Given the description of an element on the screen output the (x, y) to click on. 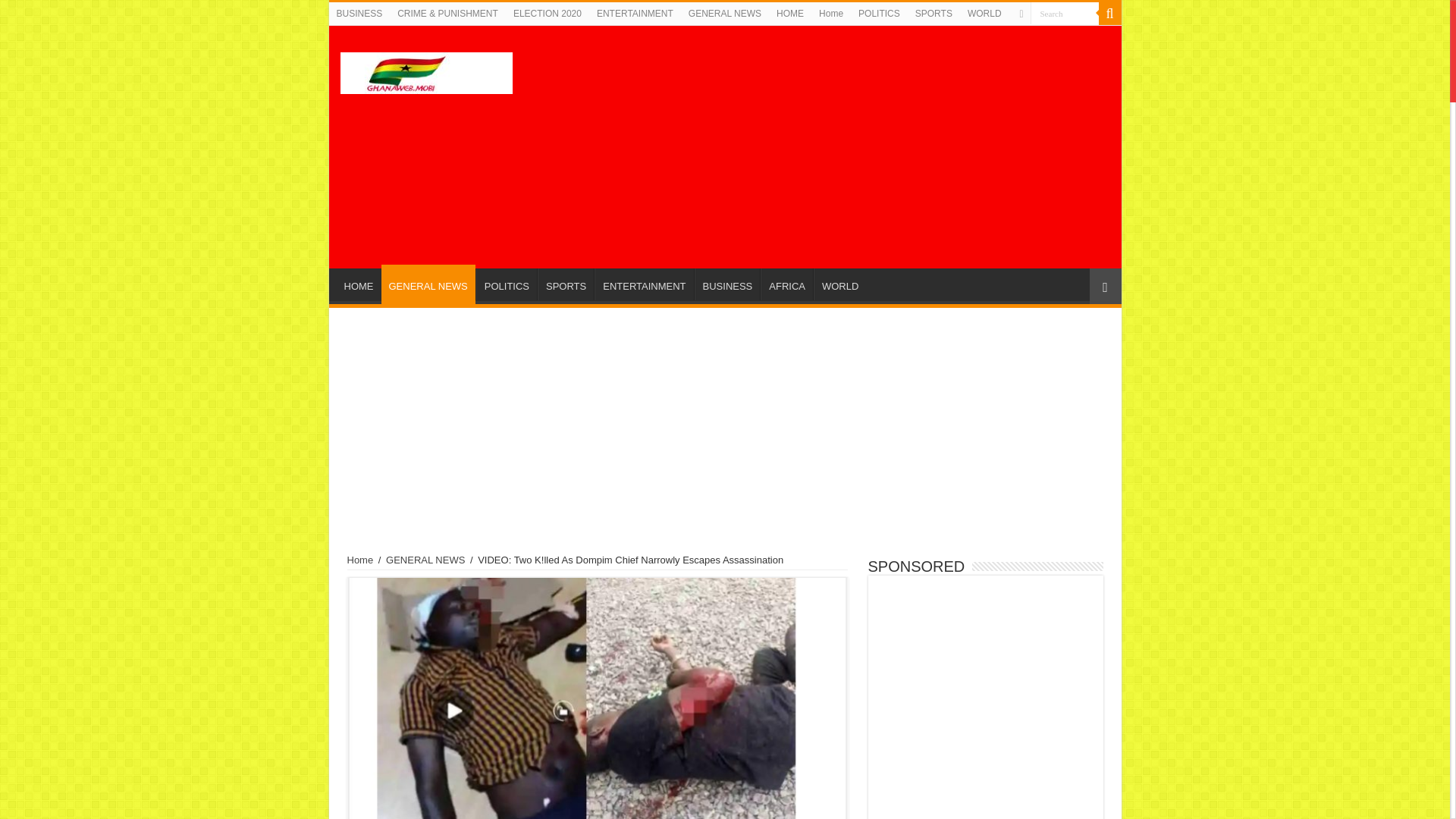
Search (1109, 13)
Advertisement (833, 146)
Search (1063, 13)
BUSINESS (727, 284)
AFRICA (786, 284)
WORLD (839, 284)
GENERAL NEWS (427, 283)
SPORTS (933, 13)
Home Of Ghana News (425, 70)
BUSINESS (359, 13)
HOME (789, 13)
ENTERTAINMENT (635, 13)
Search (1063, 13)
SPORTS (565, 284)
